Given the description of an element on the screen output the (x, y) to click on. 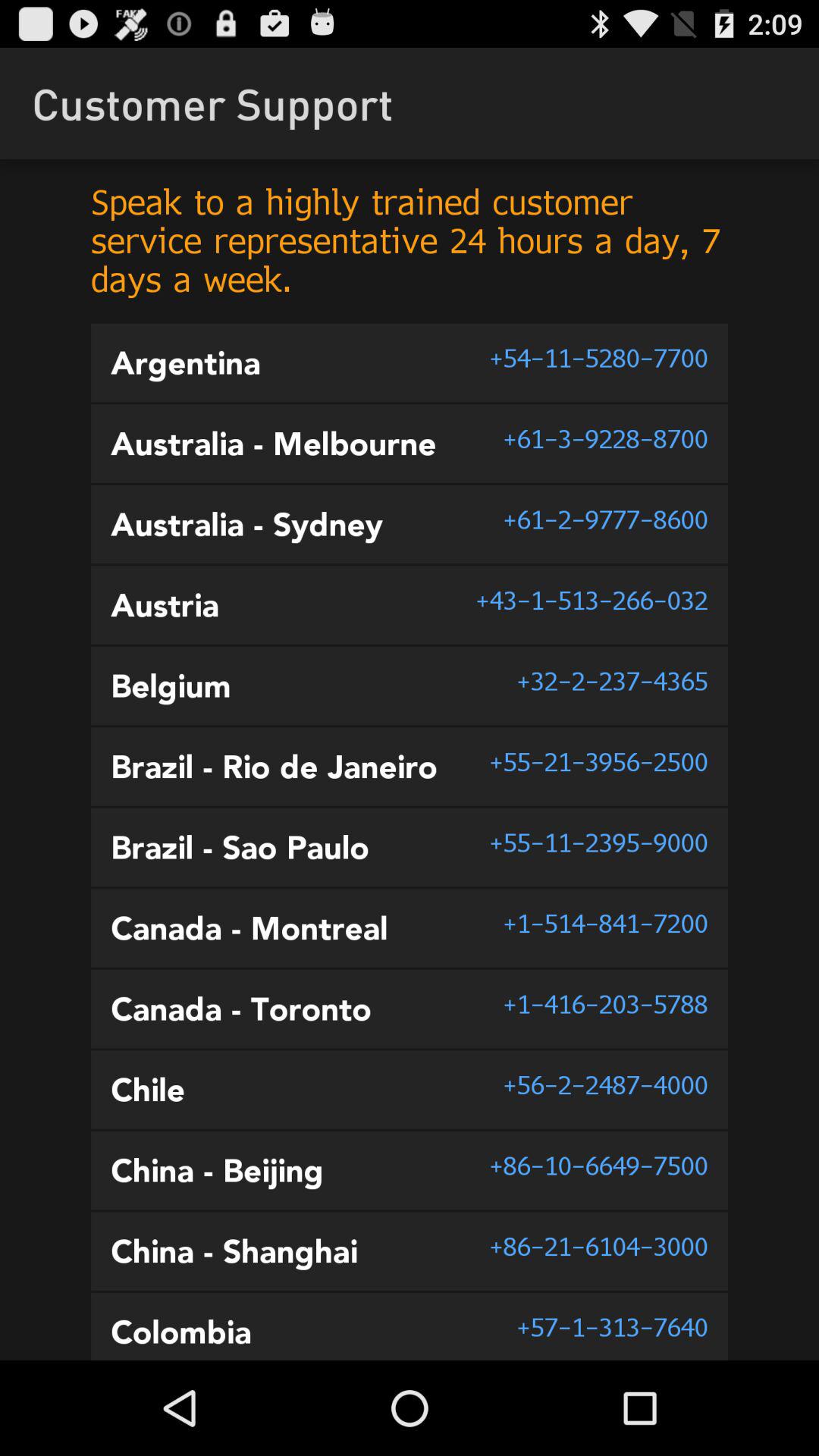
turn on the 55 21 3956 item (598, 761)
